Given the description of an element on the screen output the (x, y) to click on. 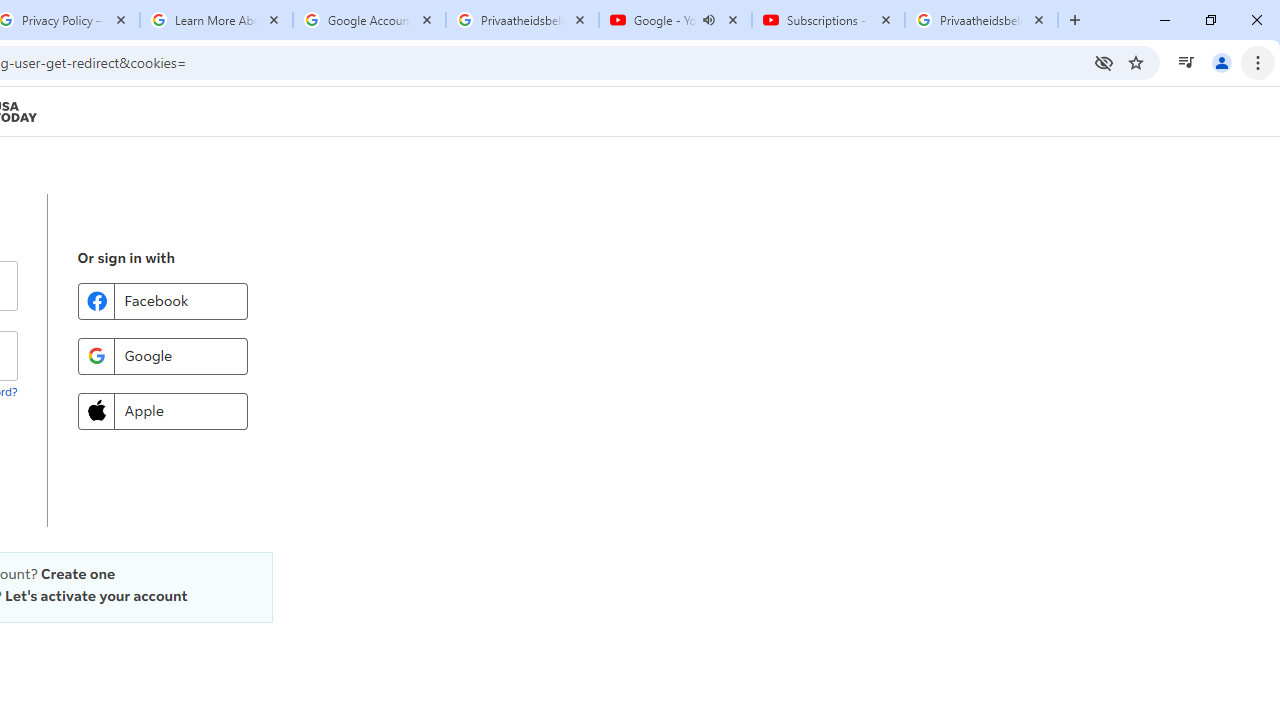
Apple (162, 410)
Mute tab (708, 20)
